Given the description of an element on the screen output the (x, y) to click on. 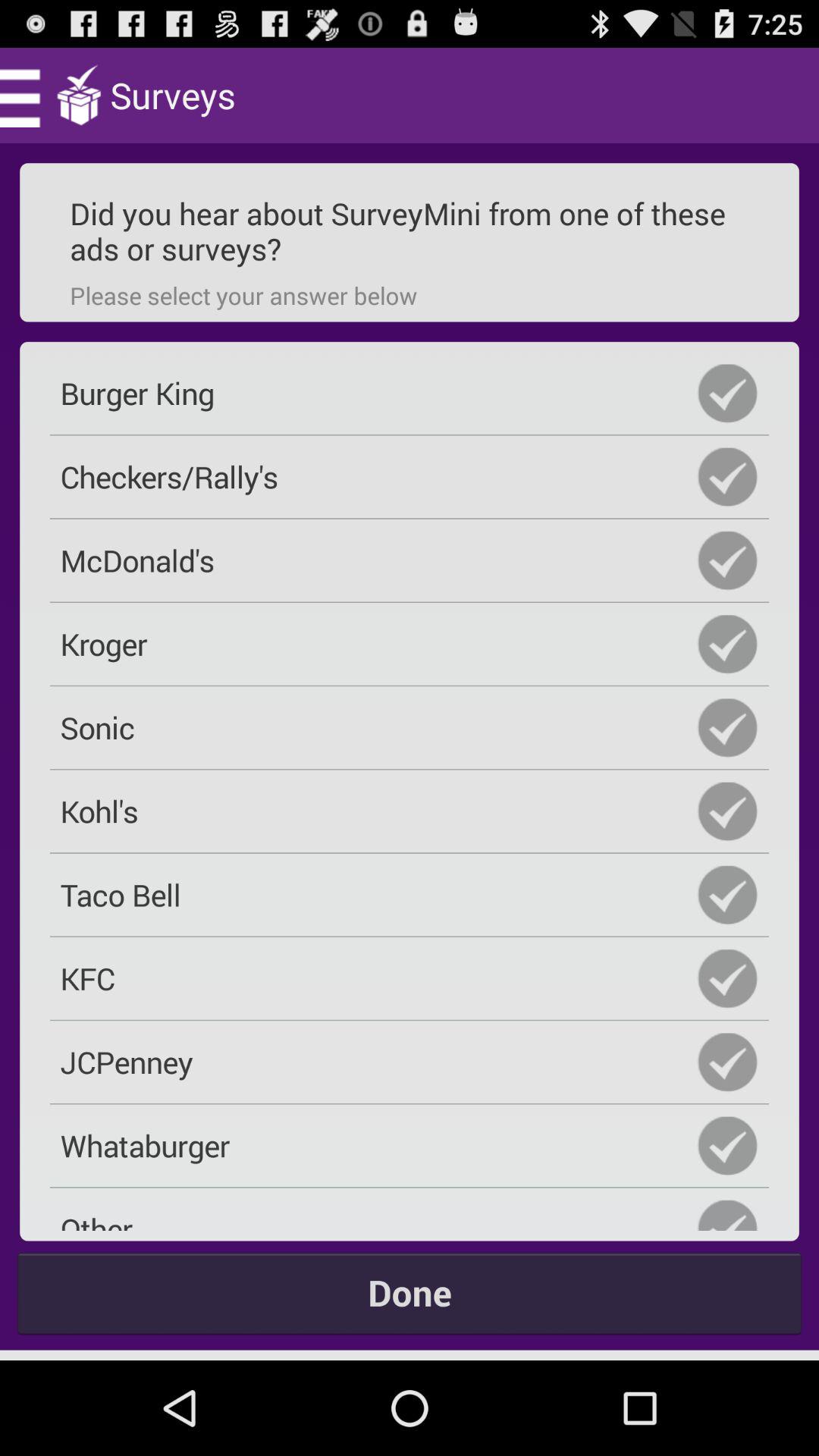
launch item above the other icon (409, 1145)
